Given the description of an element on the screen output the (x, y) to click on. 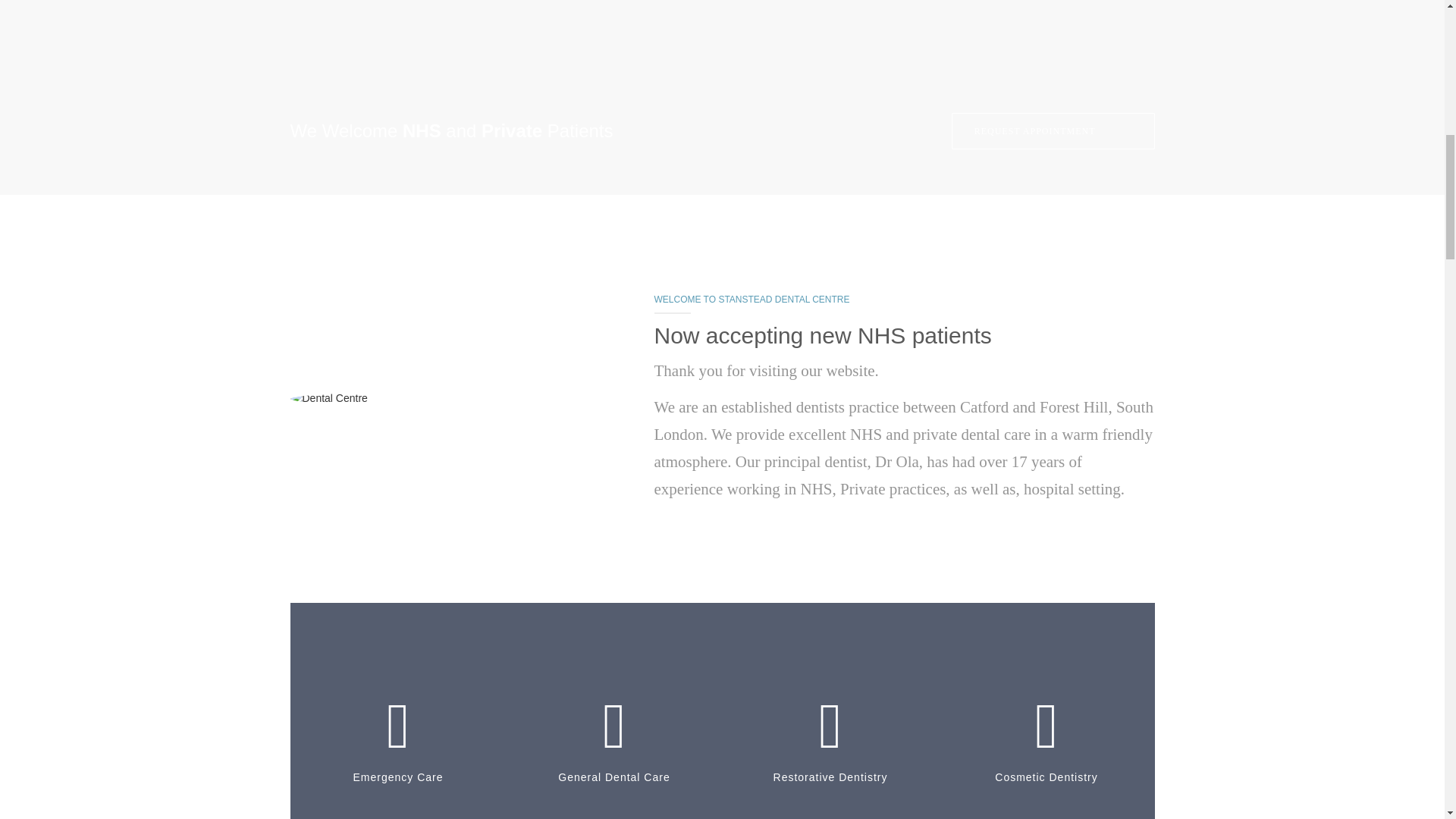
REQUEST APPOINTMENT (1053, 131)
Emergency Care (398, 794)
